Given the description of an element on the screen output the (x, y) to click on. 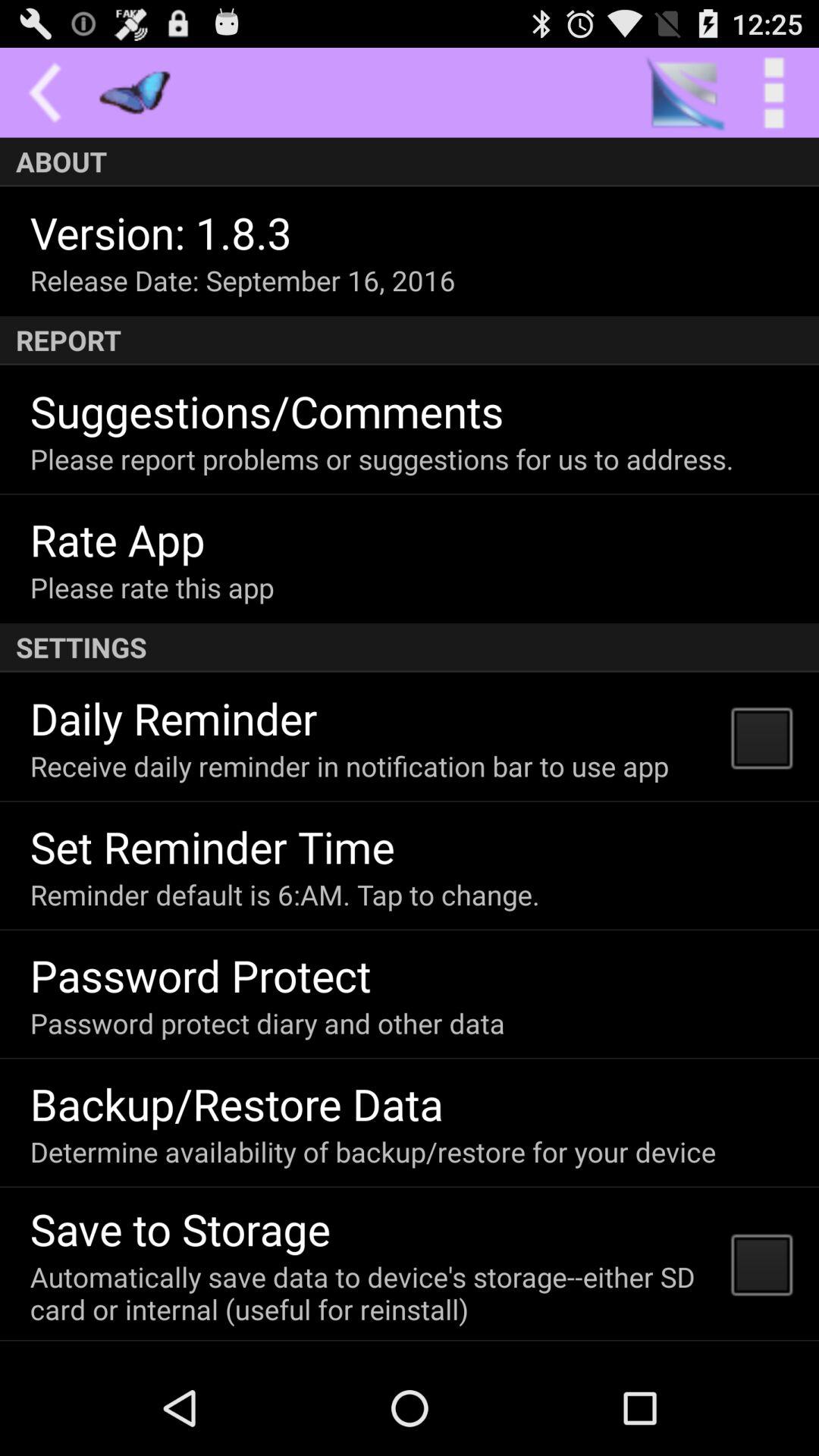
swipe until suggestions/comments (266, 410)
